Given the description of an element on the screen output the (x, y) to click on. 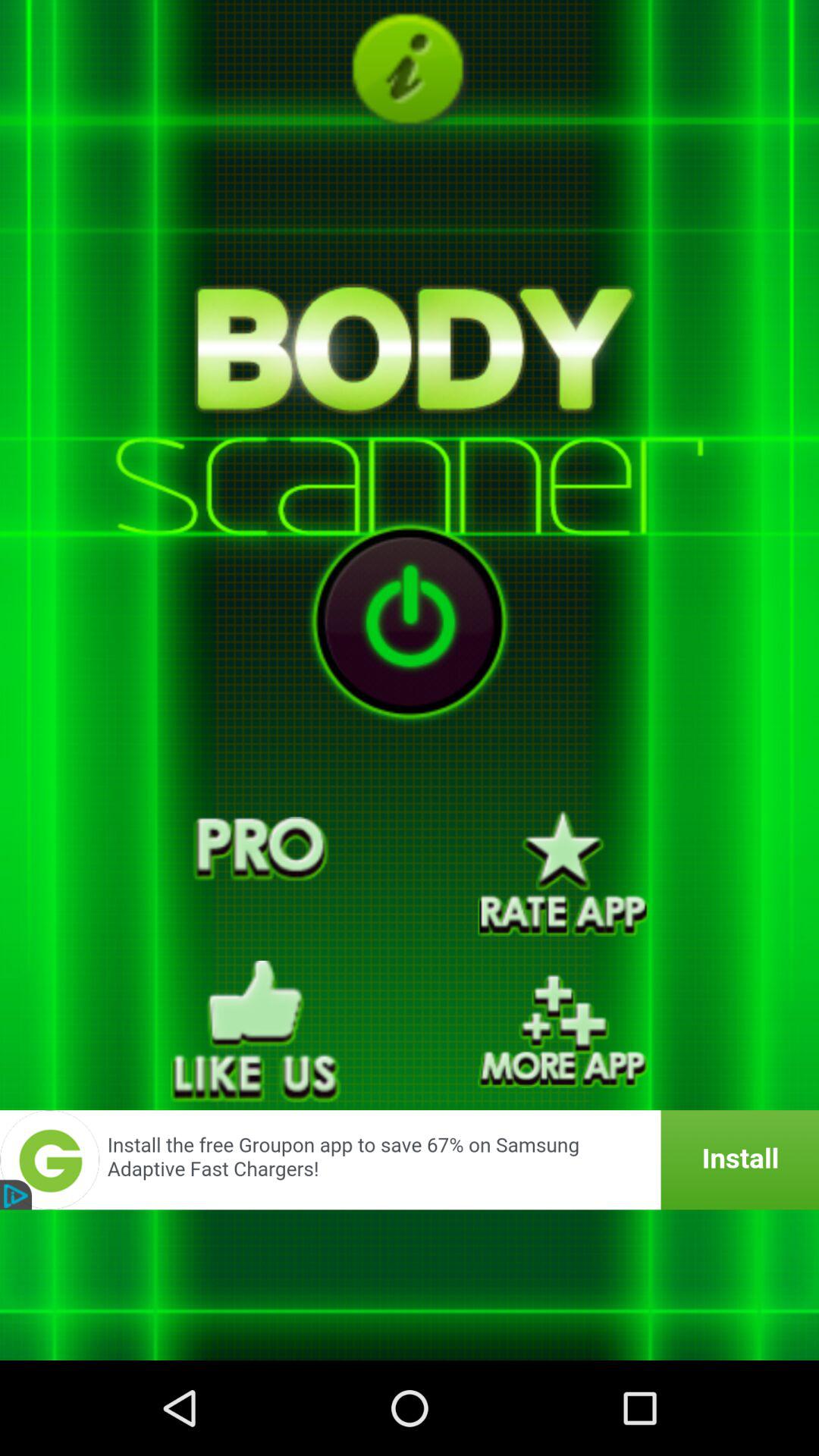
power (409, 621)
